Given the description of an element on the screen output the (x, y) to click on. 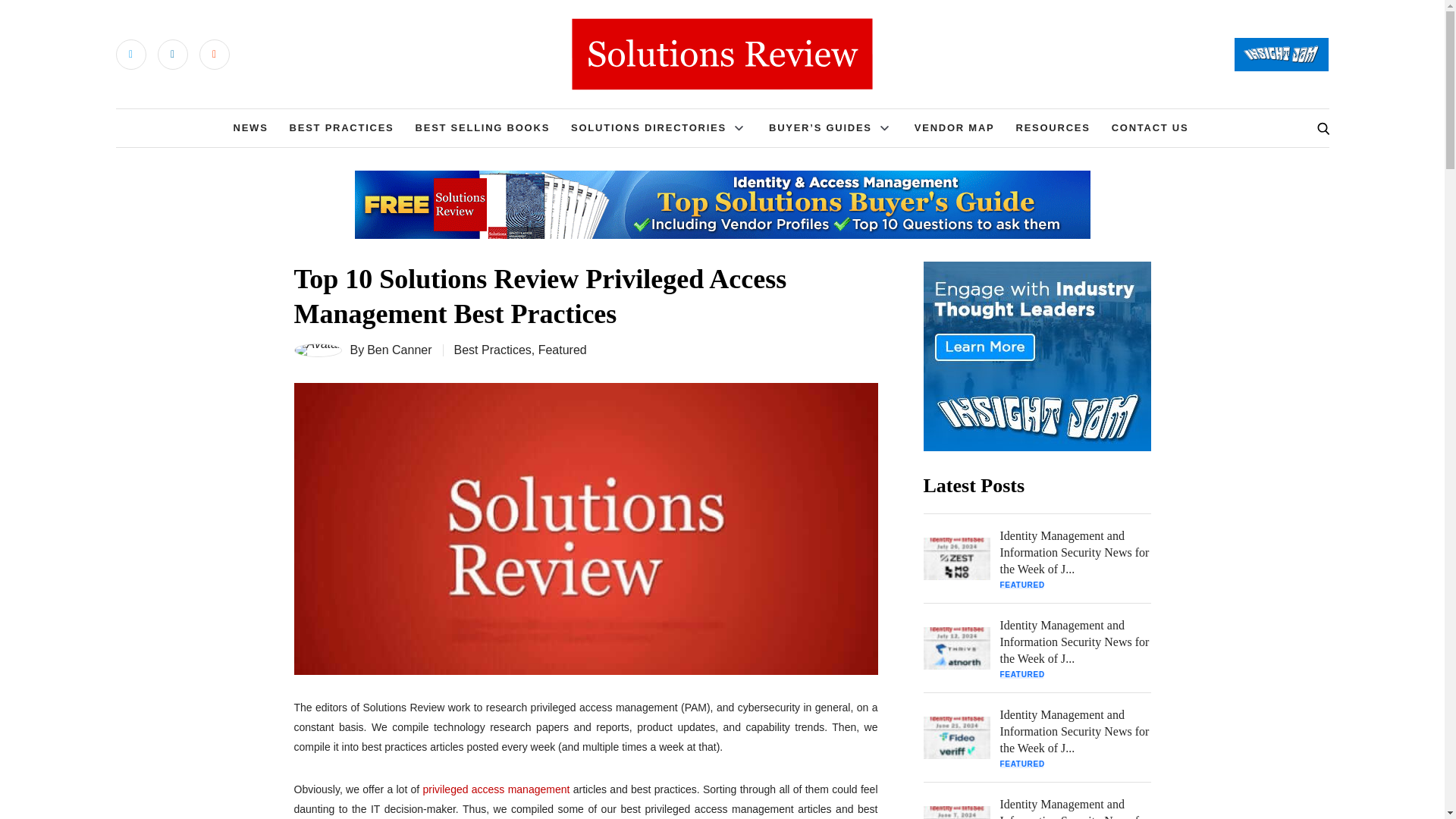
CONTACT US (1150, 127)
Best Practices (492, 349)
BEST SELLING BOOKS (482, 127)
Featured (562, 349)
BEST PRACTICES (341, 127)
privileged access management (496, 788)
Insight Jam Ad (1037, 356)
SOLUTIONS DIRECTORIES (648, 127)
RESOURCES (1051, 127)
NEWS (249, 127)
Ben Canner (398, 350)
VENDOR MAP (954, 127)
